Given the description of an element on the screen output the (x, y) to click on. 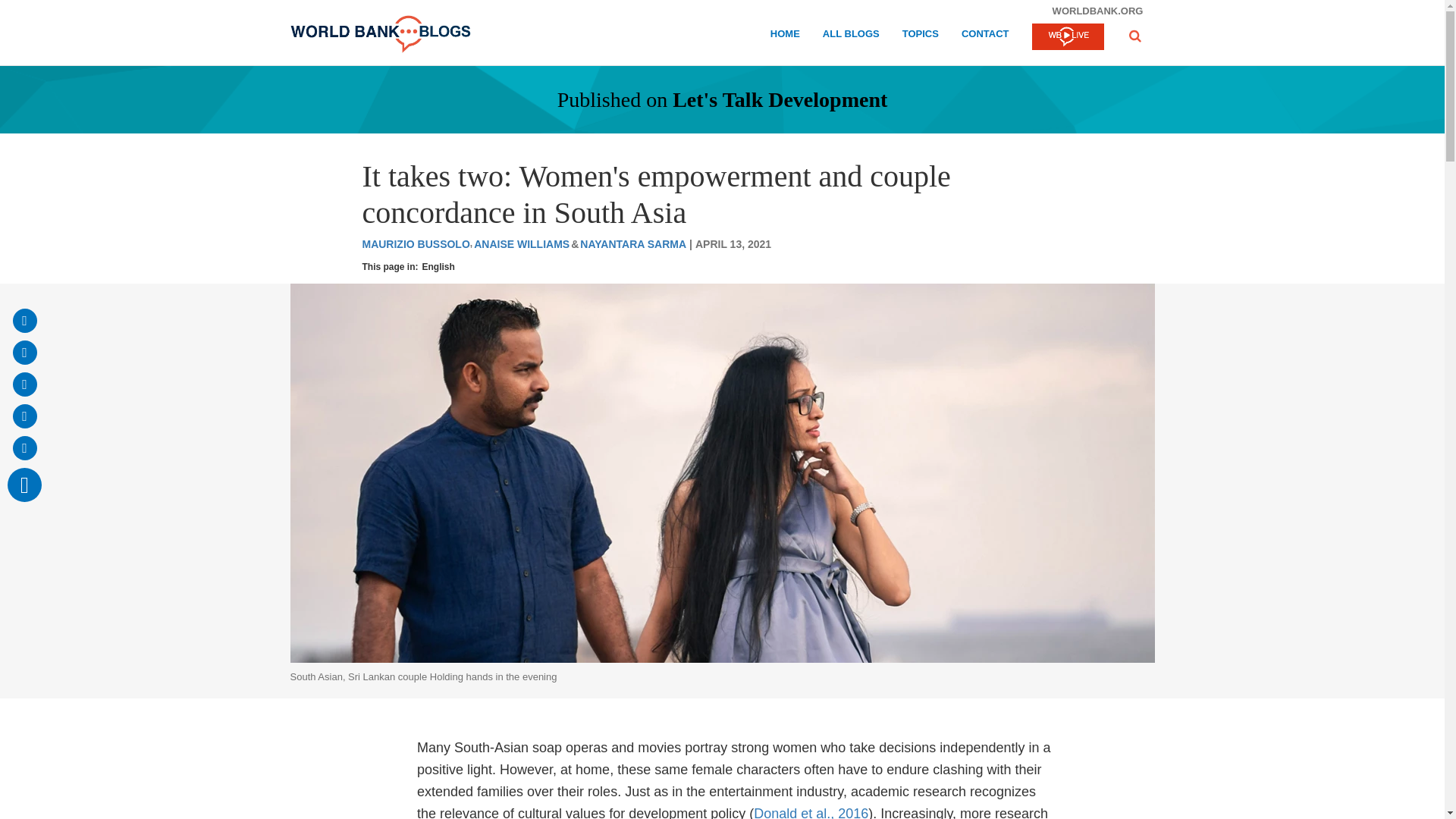
WB LIVE LOGO (1066, 37)
TOPICS (920, 37)
Facebook (23, 352)
whatsup (23, 447)
Let's Talk Development (779, 99)
linkedln (23, 416)
World Bank Blogs Logo (379, 34)
CONTACT (984, 37)
